Given the description of an element on the screen output the (x, y) to click on. 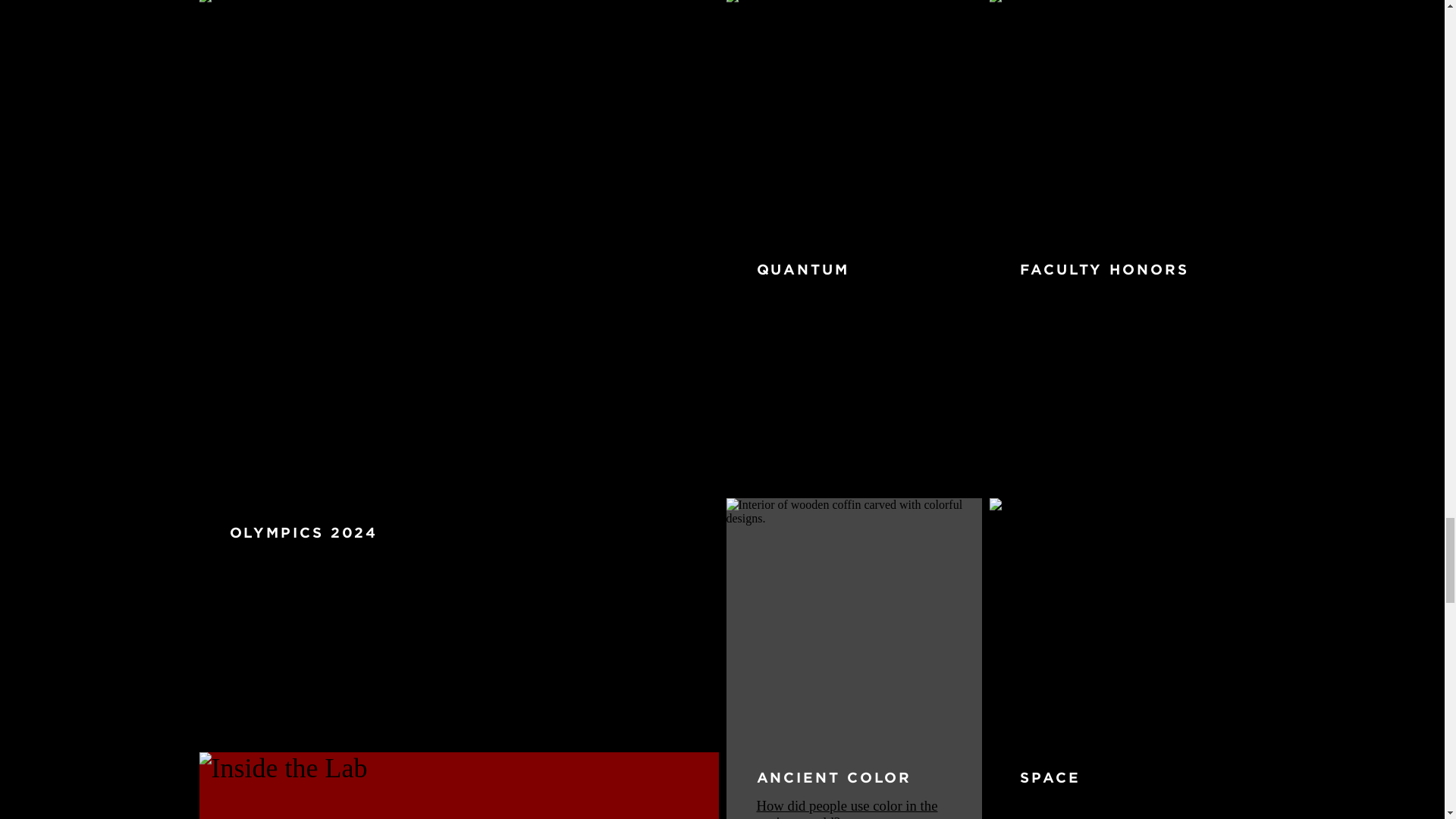
Prof. Shadi Bartsch-Zimmer elected to the British Academy (1107, 305)
How did people use color in the ancient world? (847, 808)
